Given the description of an element on the screen output the (x, y) to click on. 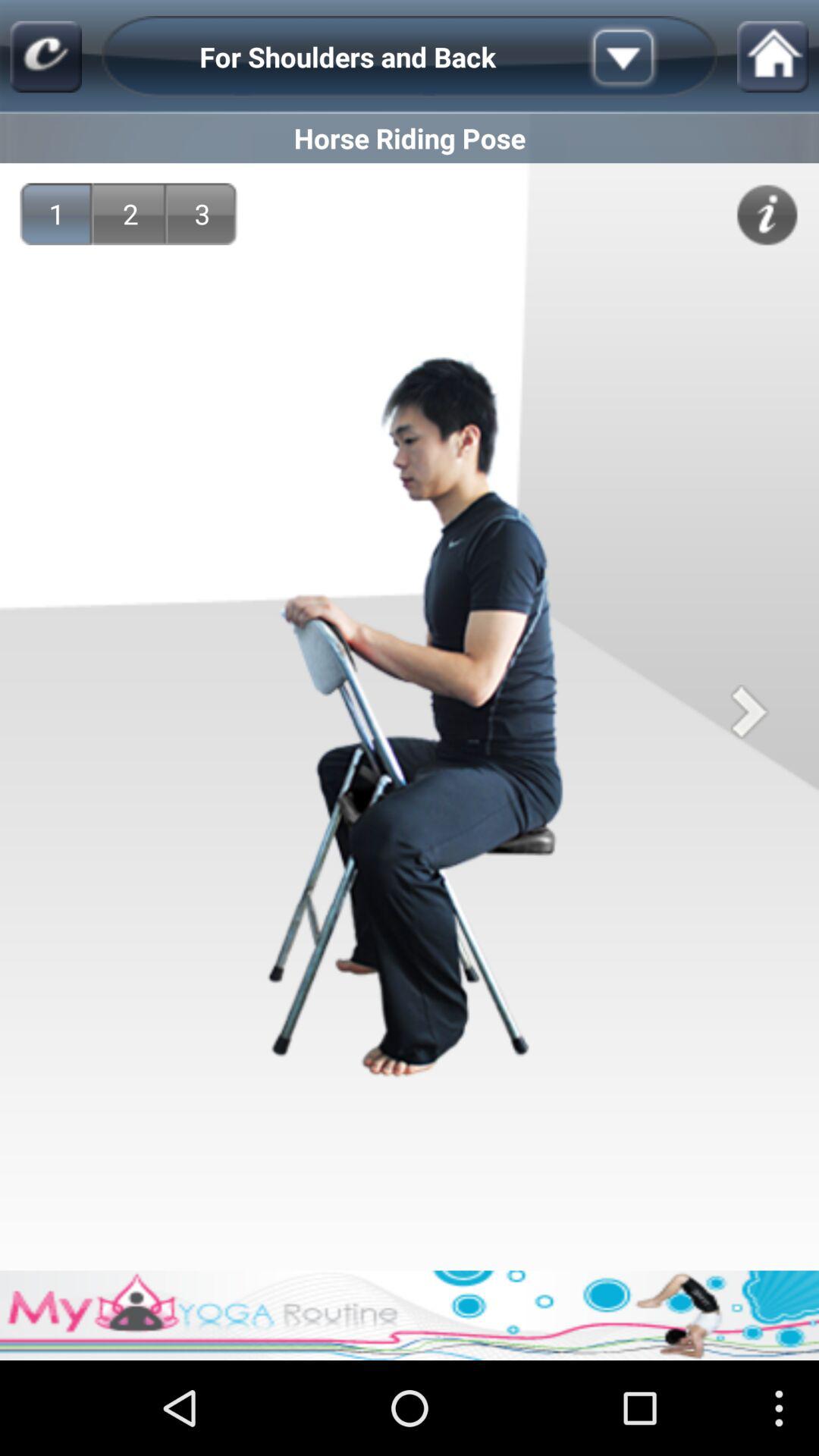
more information (767, 214)
